Given the description of an element on the screen output the (x, y) to click on. 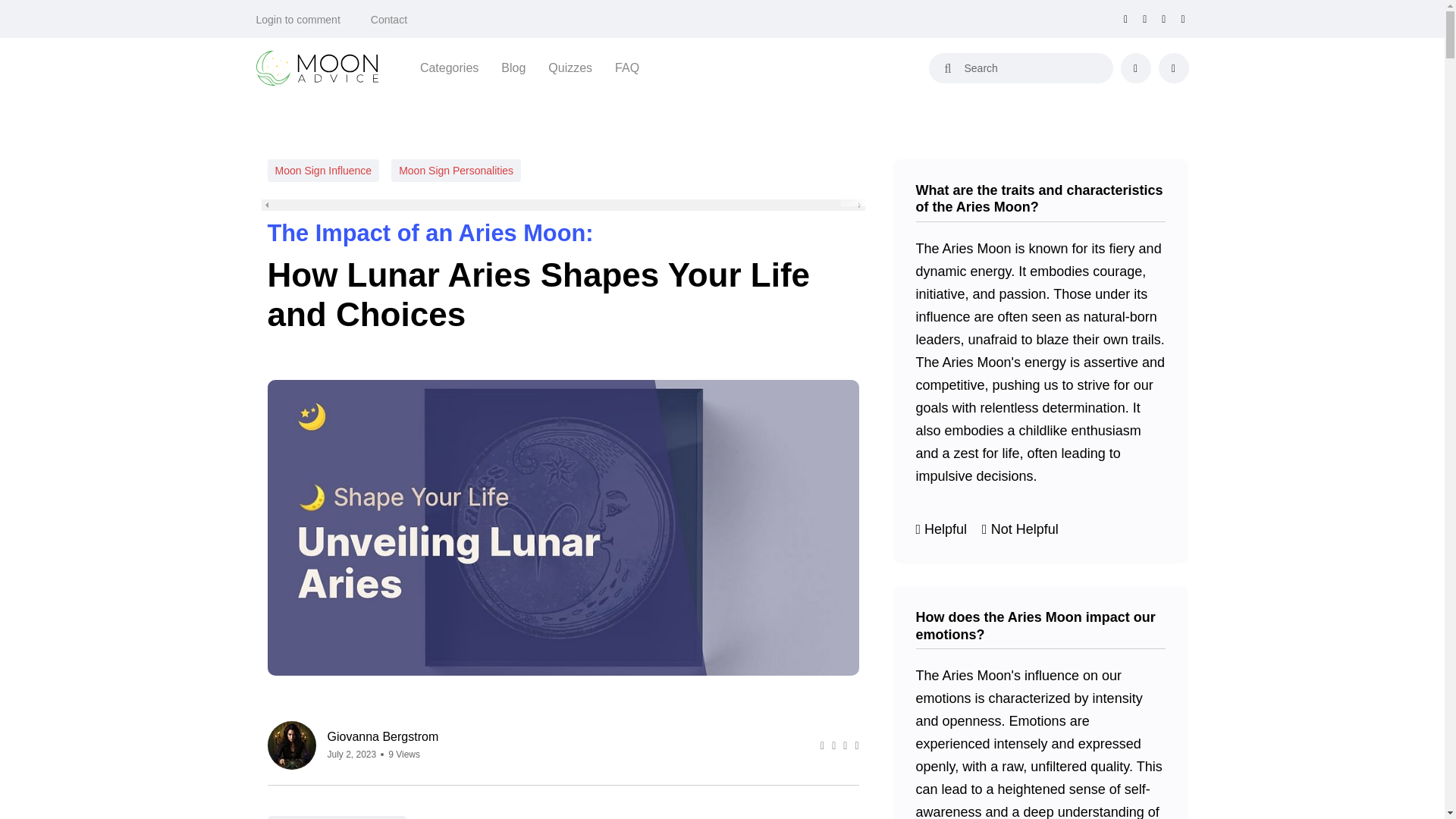
Contact (389, 19)
Login to comment (298, 19)
Categories (449, 67)
